Given the description of an element on the screen output the (x, y) to click on. 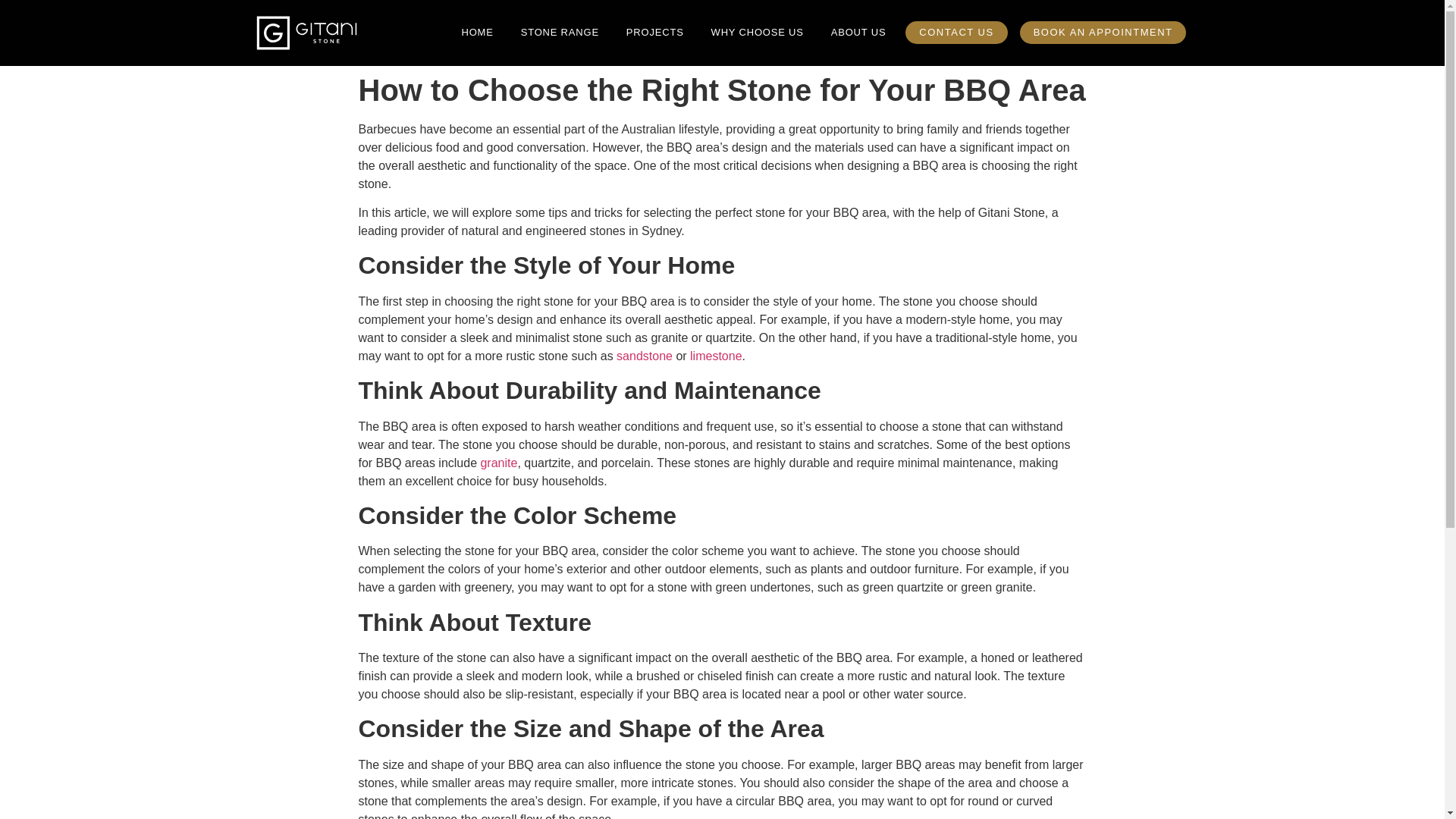
HOME (476, 32)
BOOK AN APPOINTMENT (1103, 32)
CONTACT US (956, 32)
STONE RANGE (559, 32)
ABOUT US (857, 32)
WHY CHOOSE US (756, 32)
PROJECTS (654, 32)
